Given the description of an element on the screen output the (x, y) to click on. 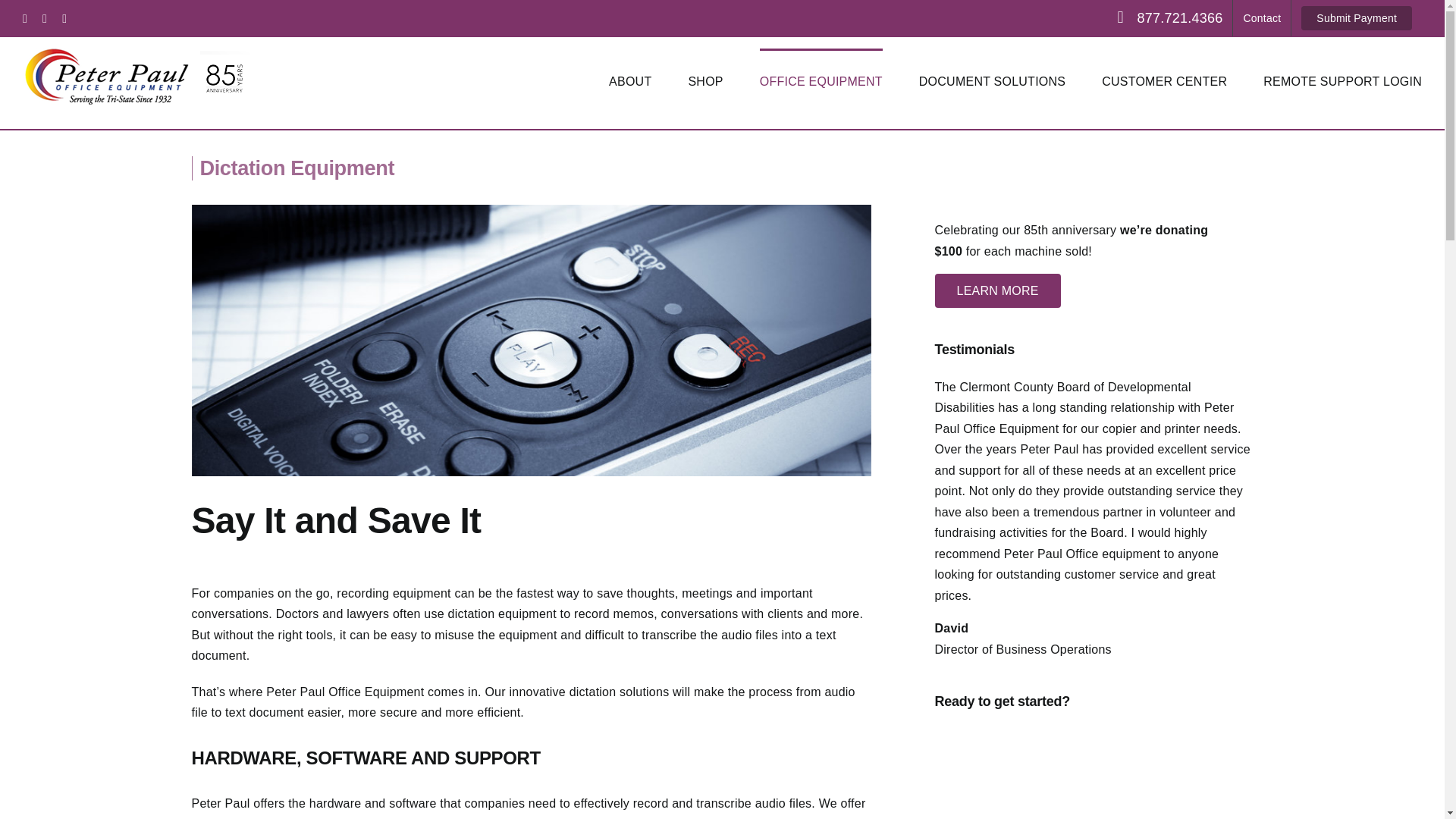
877.721.4366 (1168, 18)
Submit Payment (1356, 18)
Contact (1261, 18)
CUSTOMER CENTER (1164, 80)
DOCUMENT SOLUTIONS (991, 80)
OFFICE EQUIPMENT (821, 80)
